Given the description of an element on the screen output the (x, y) to click on. 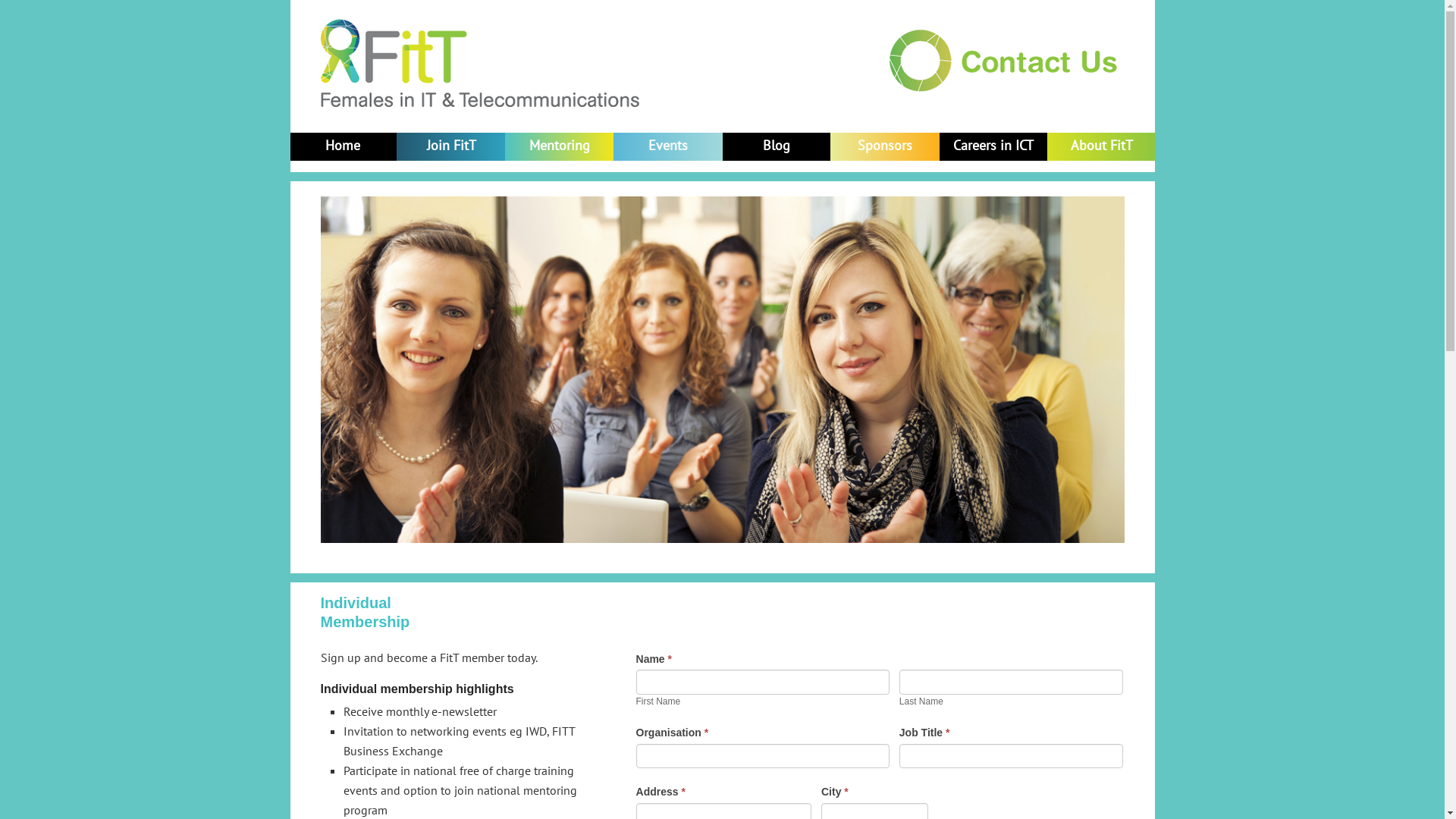
Mentoring Element type: text (559, 145)
Events Element type: text (667, 145)
Blog Element type: text (776, 145)
FitT Element type: text (479, 71)
Join FitT Element type: text (450, 145)
Home Element type: text (342, 145)
About FitT Element type: text (1101, 145)
Careers in ICT Element type: text (993, 145)
banner-event Element type: hover (721, 369)
Sponsors Element type: text (884, 145)
